Given the description of an element on the screen output the (x, y) to click on. 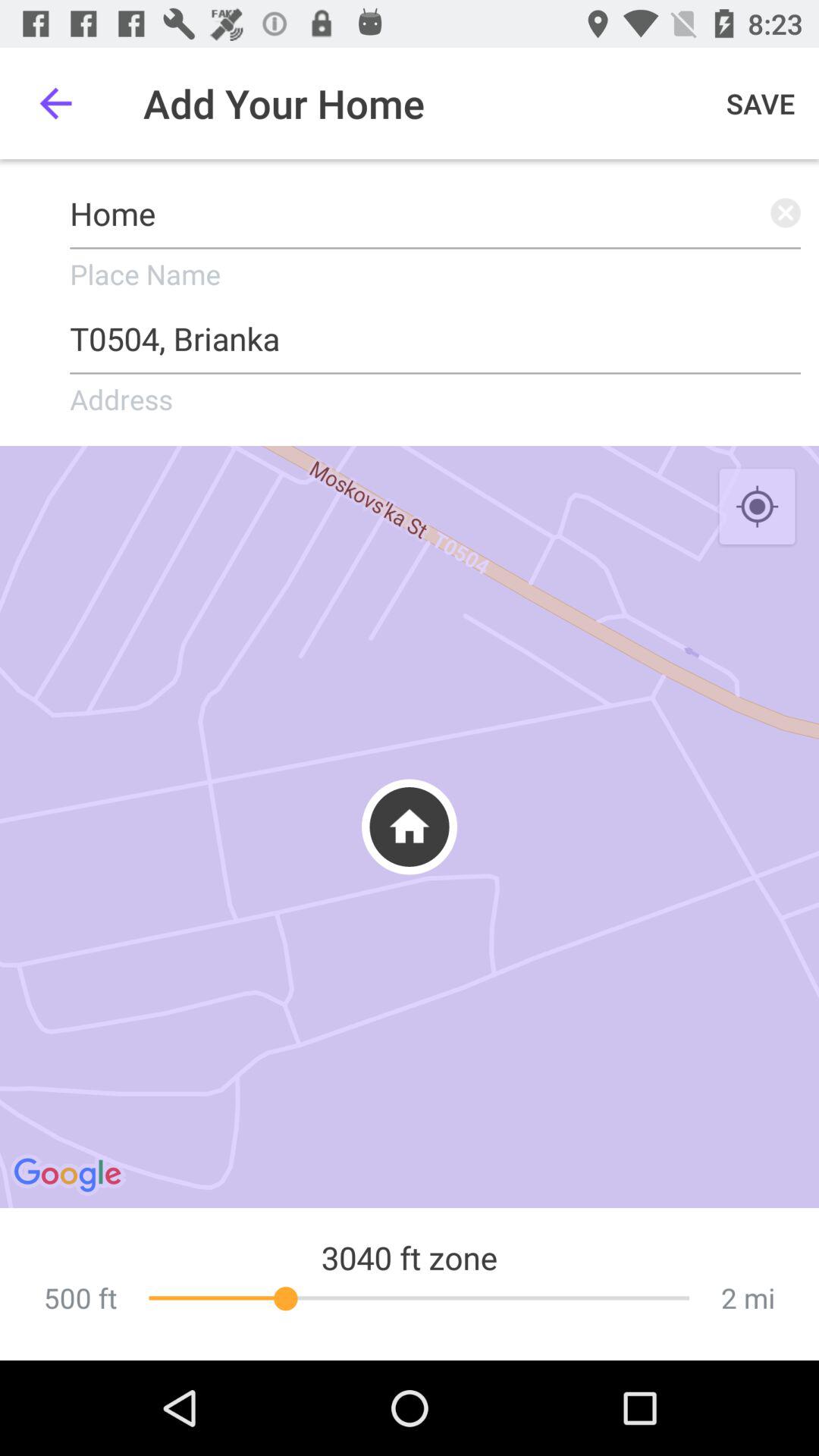
scroll until the t0504, brianka (434, 333)
